Given the description of an element on the screen output the (x, y) to click on. 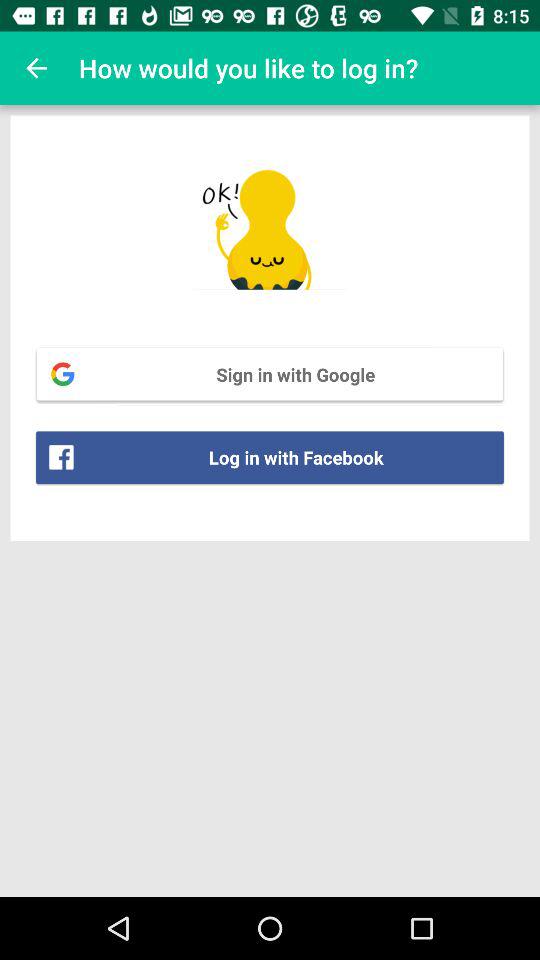
turn off icon at the top left corner (36, 68)
